Given the description of an element on the screen output the (x, y) to click on. 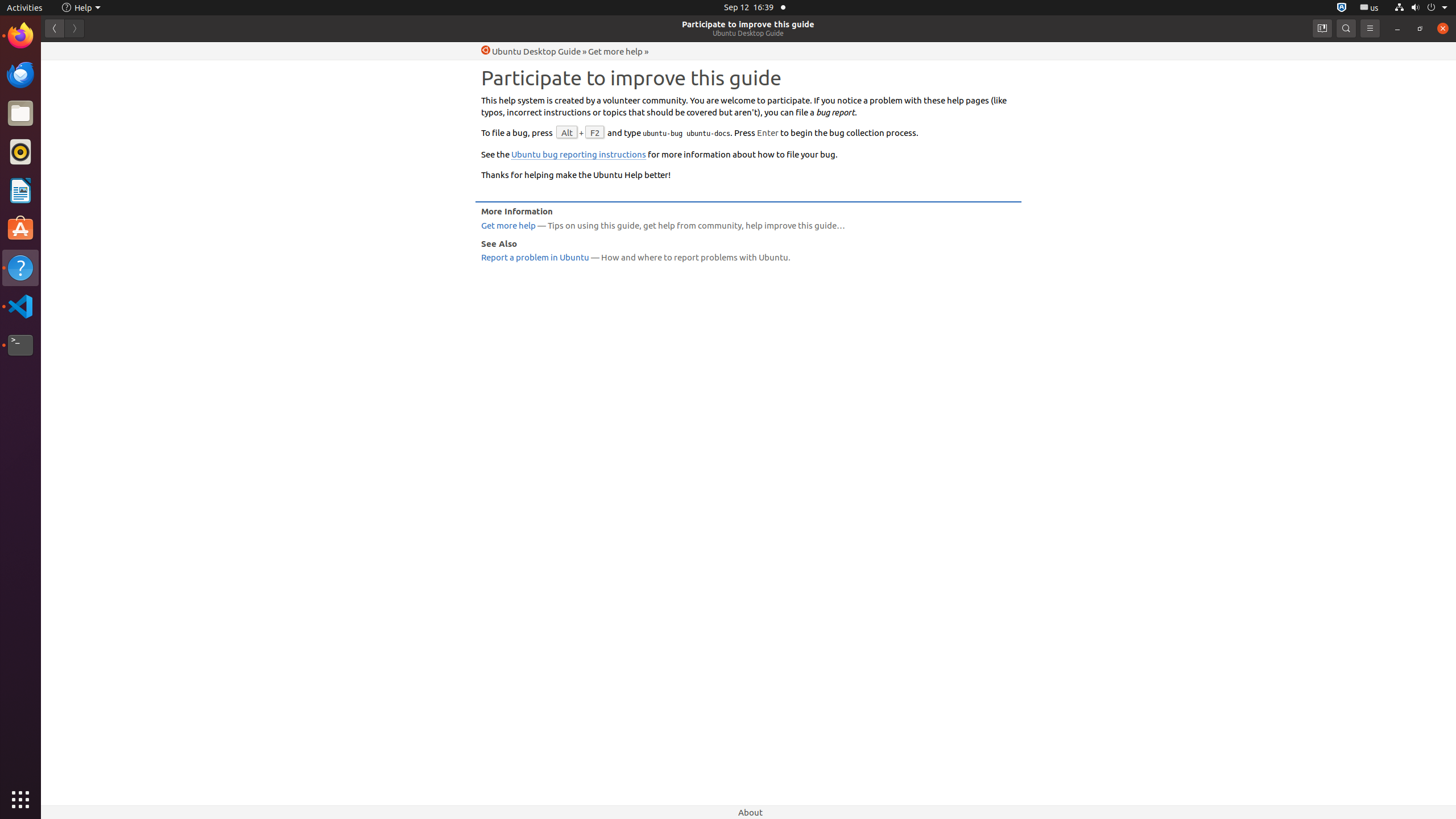
IsaHelpMain.desktop Element type: label (75, 170)
— How and where to report problems with Ubuntu. Element type: list-item (748, 257)
Ubuntu Desktop Guide Element type: label (748, 33)
Participate to improve this guide Element type: label (748, 24)
